Given the description of an element on the screen output the (x, y) to click on. 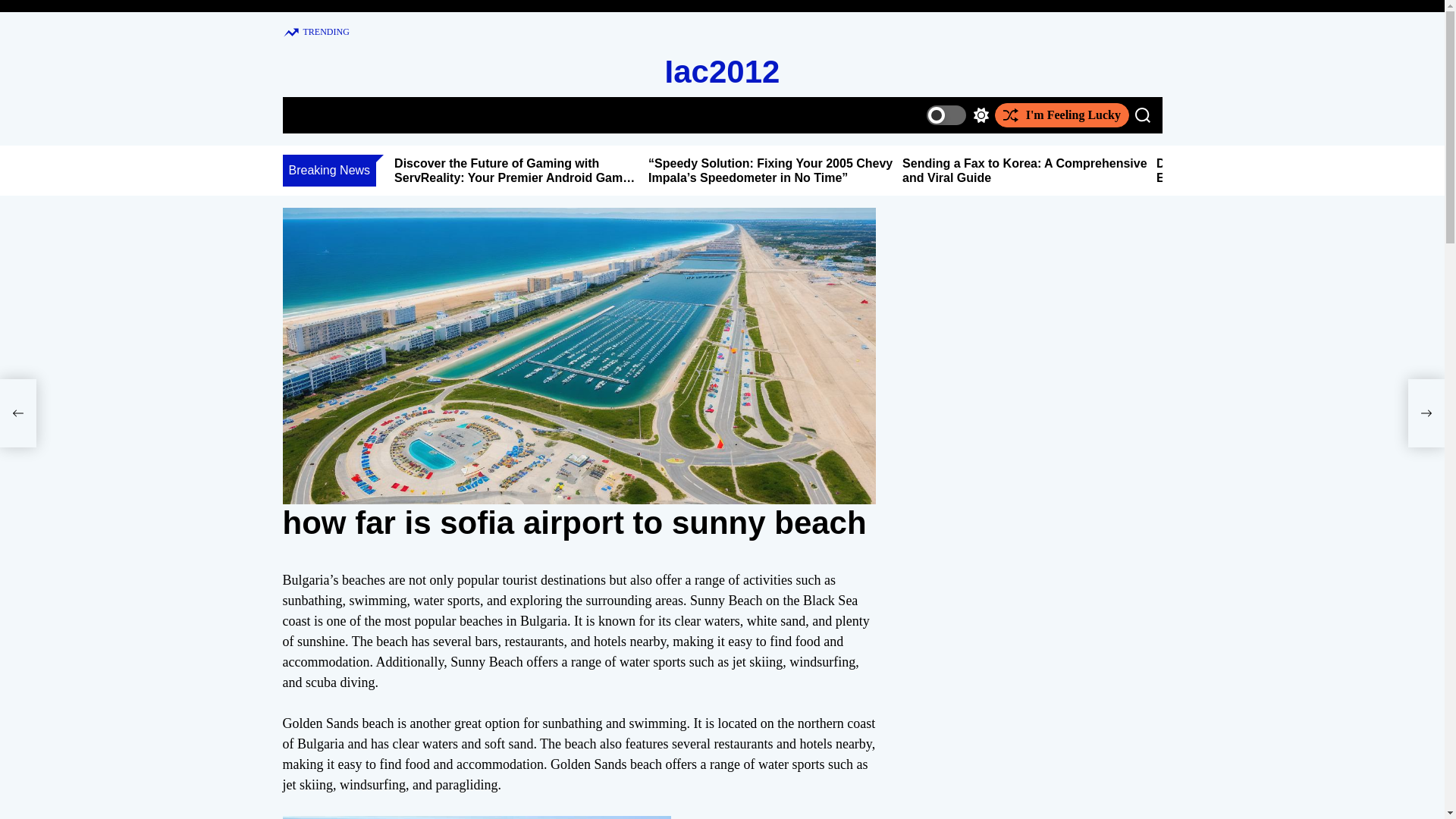
Sending a Fax to Korea: A Comprehensive and Viral Guide (1024, 170)
Switch color mode (957, 115)
I'm Feeling Lucky (1061, 115)
Search (1142, 114)
Iac2012 (722, 71)
